Given the description of an element on the screen output the (x, y) to click on. 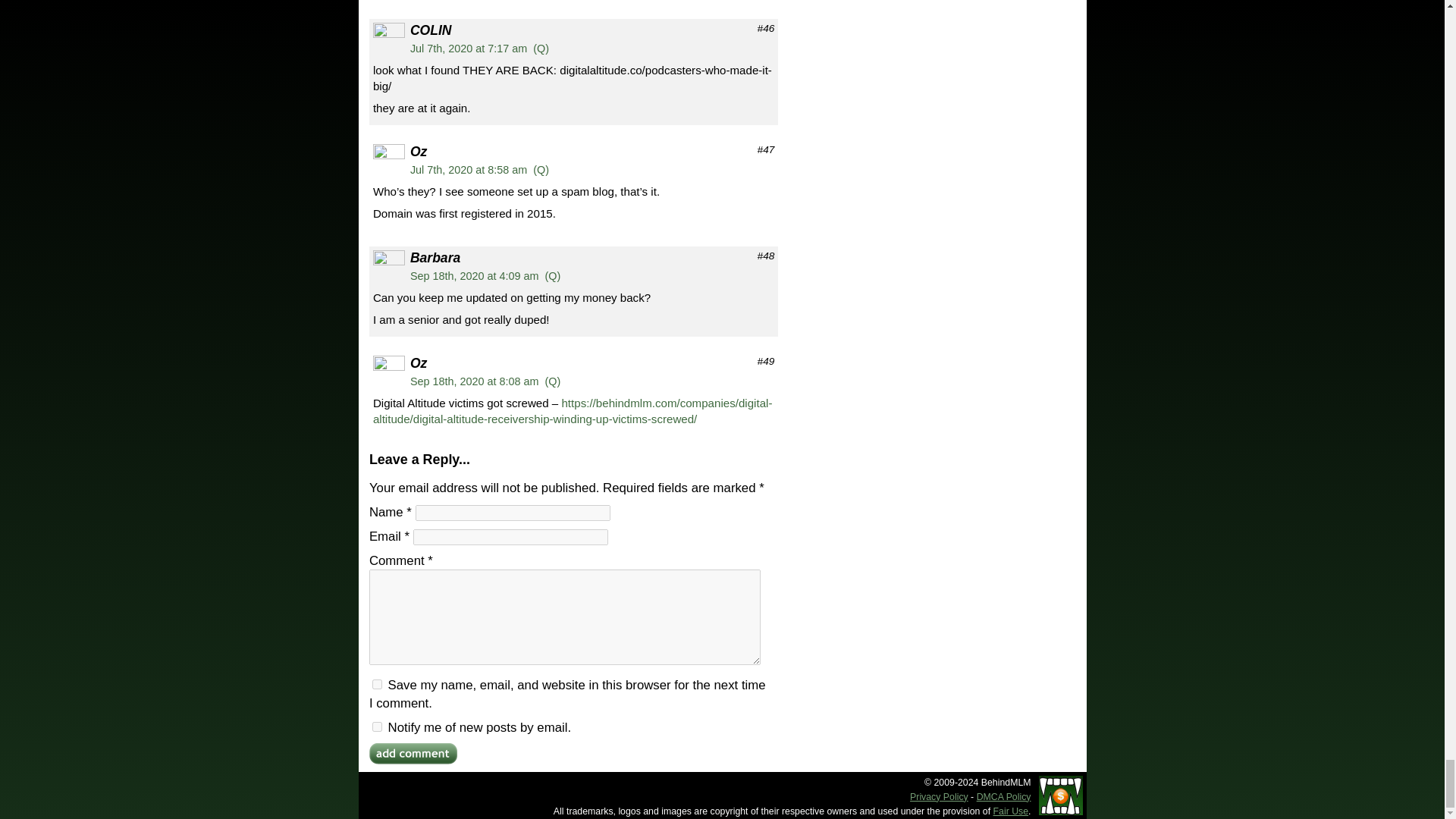
yes (376, 684)
subscribe (376, 726)
